Given the description of an element on the screen output the (x, y) to click on. 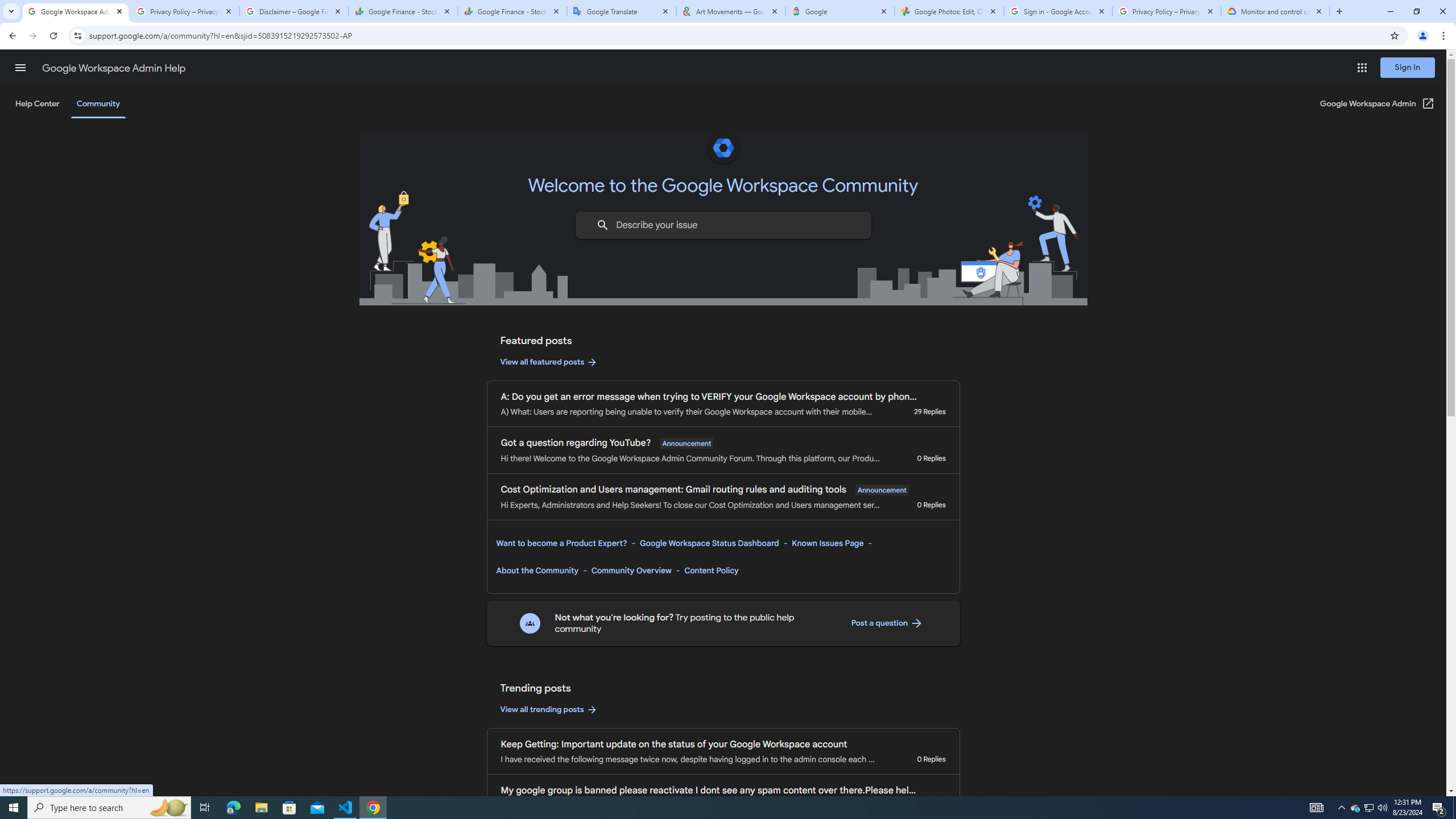
Community (97, 103)
Describe your issue to find information that might help you. (722, 225)
Content Policy (711, 570)
Sign in - Google Accounts (1058, 11)
